Given the description of an element on the screen output the (x, y) to click on. 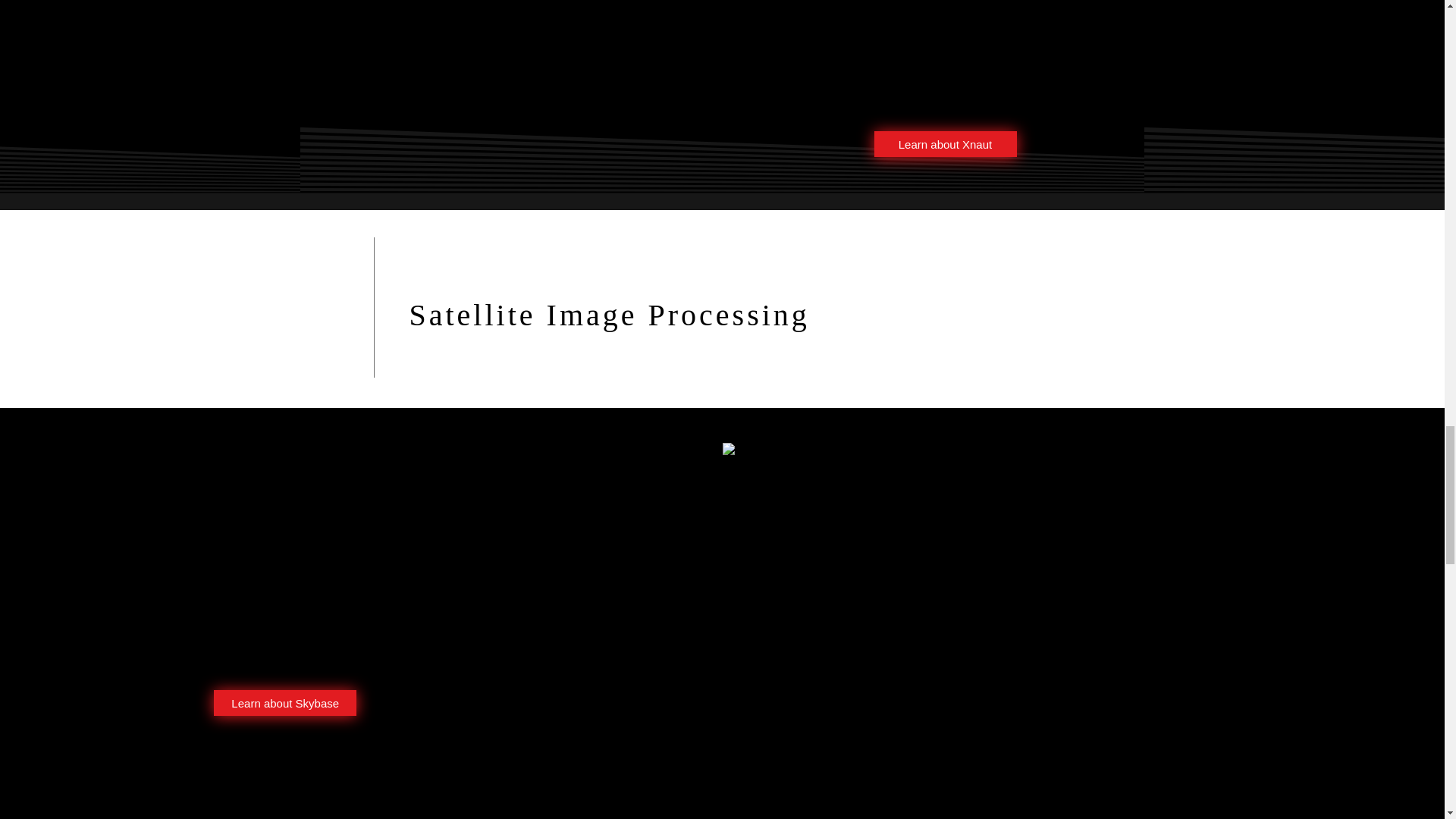
Learn about Xnaut (299, 551)
Learn about Skybase (944, 144)
